Given the description of an element on the screen output the (x, y) to click on. 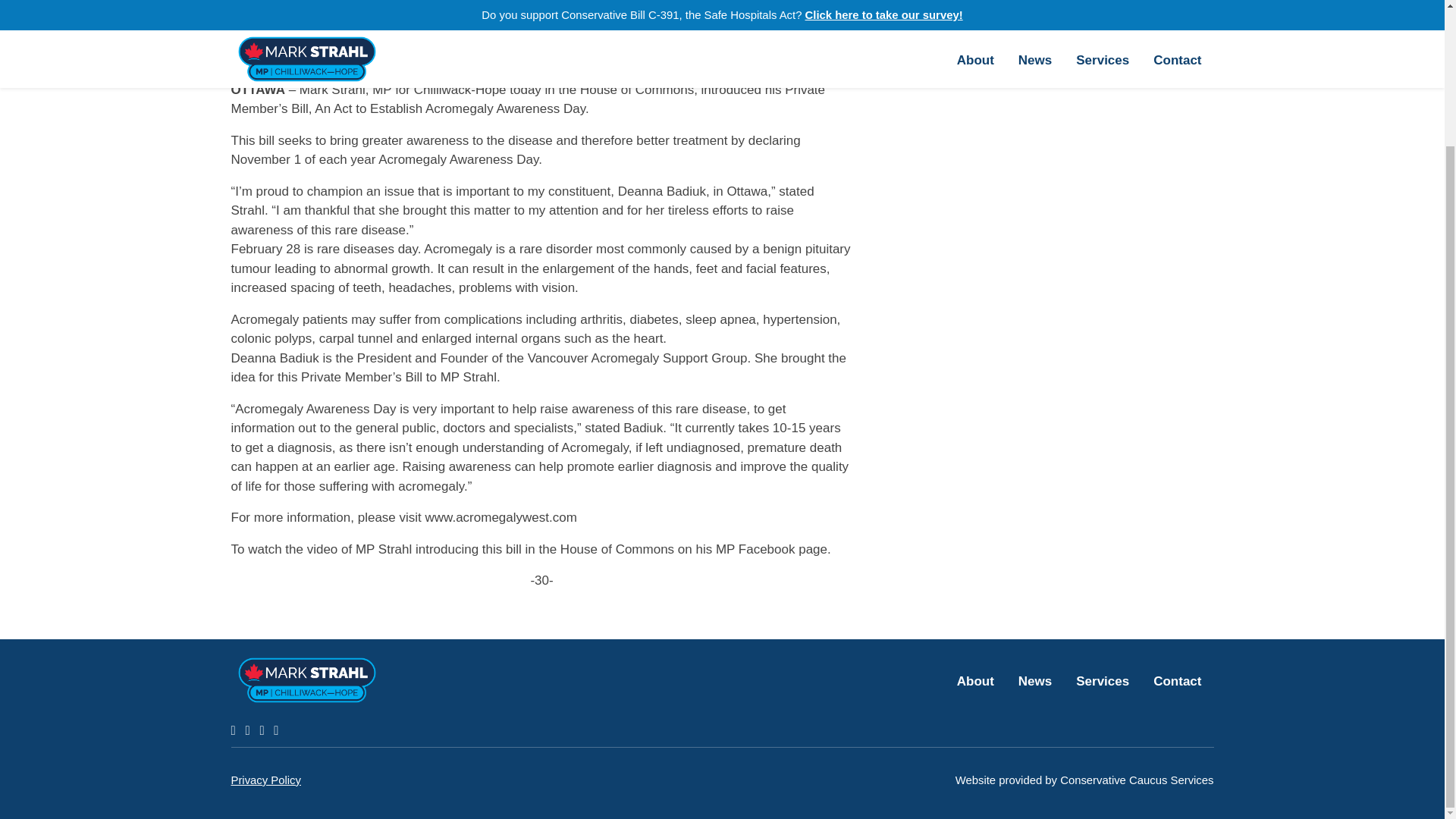
Services (1102, 679)
About (975, 679)
News (1035, 679)
Contact (1176, 679)
Privacy Policy (264, 779)
